Given the description of an element on the screen output the (x, y) to click on. 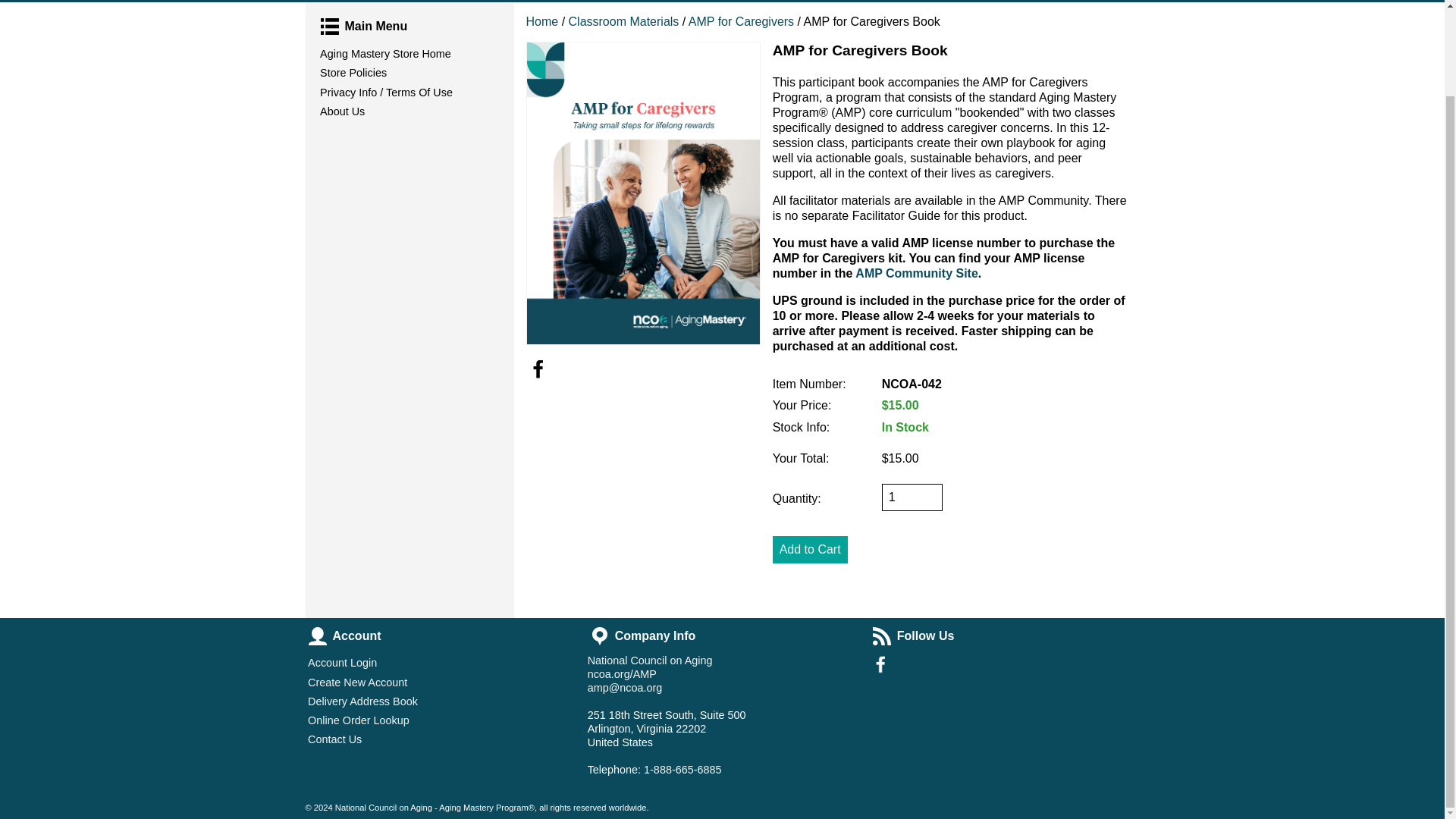
Account Login (439, 662)
AMP Community Site (917, 273)
Home (542, 21)
Account Login (439, 662)
Create New Account (439, 681)
About Us (408, 110)
Classroom Materials (625, 21)
Aging Mastery Starter Kit (414, 1)
Store Policies (408, 72)
Store Policies (408, 72)
Aging Mastery Store Home (408, 54)
Online Order Lookup (439, 719)
About Us (408, 110)
Delivery Address Book (439, 700)
Classroom Materials  (625, 21)
